Given the description of an element on the screen output the (x, y) to click on. 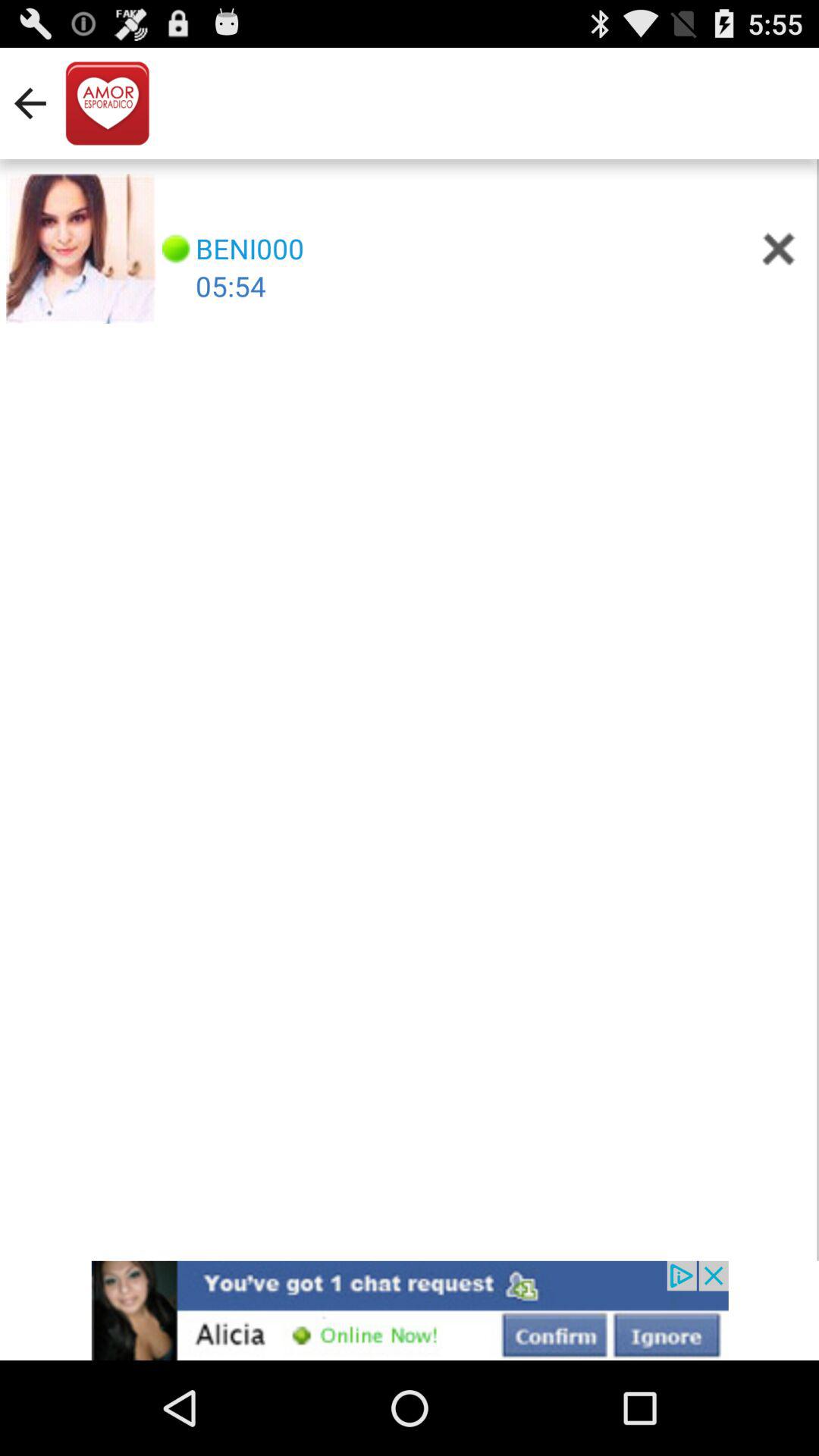
tap to cancel (778, 248)
